Given the description of an element on the screen output the (x, y) to click on. 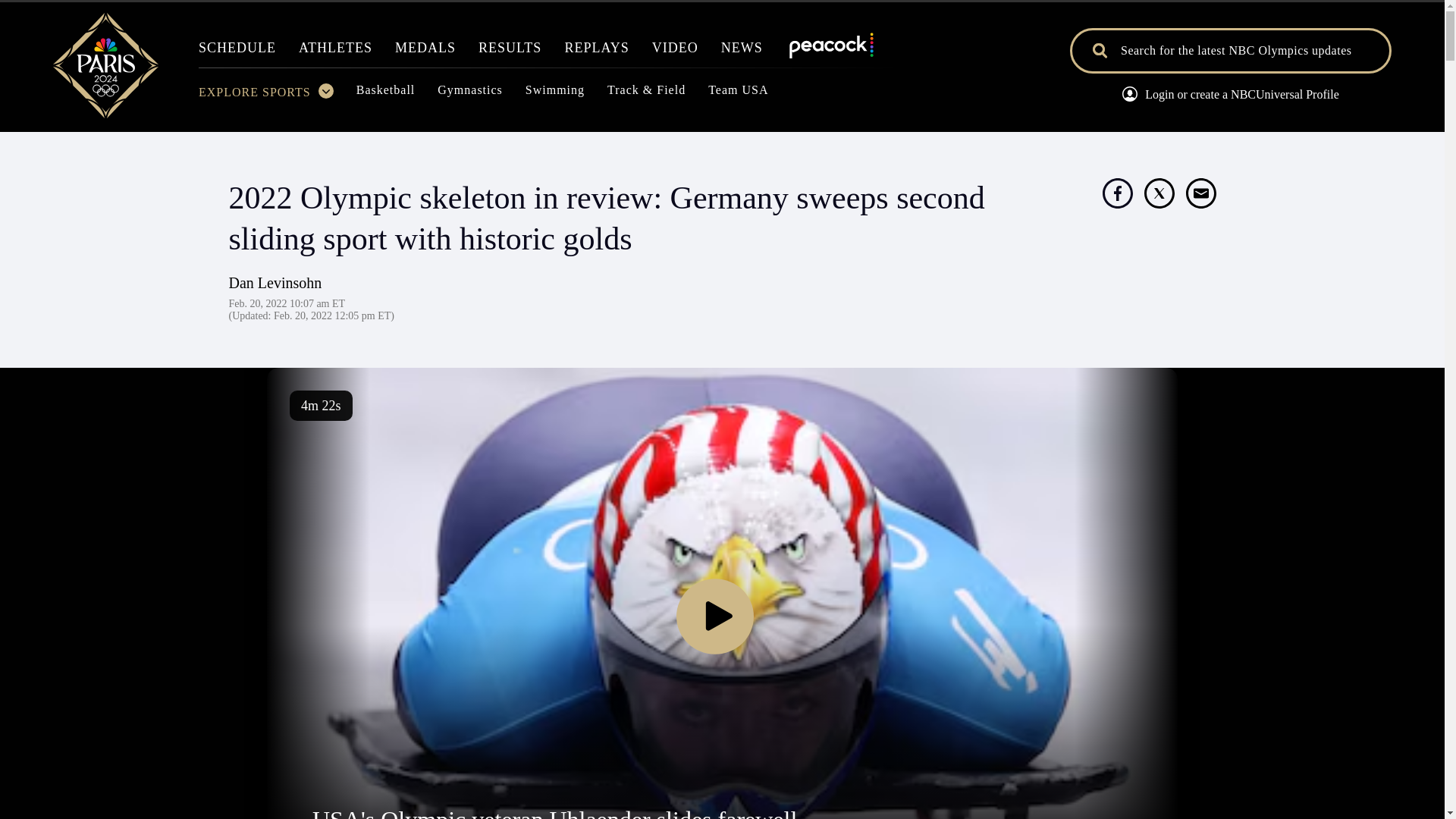
Paris Olympics 2024 Homepage (105, 113)
VIDEO (675, 51)
REPLAYS (596, 51)
RESULTS (510, 51)
Explore Sports (265, 95)
Share this article on Twitter (1157, 193)
Share this article over email (1200, 193)
Gymnastics (470, 93)
Play USA's Olympic veteran Uhlaender slides farewell video (715, 616)
Skip to main content (721, 119)
USA's Olympic veteran Uhlaender slides farewell (554, 812)
Team USA (737, 93)
Basketball (385, 93)
Share this article on Facebook (1117, 193)
Swimming (555, 93)
